Given the description of an element on the screen output the (x, y) to click on. 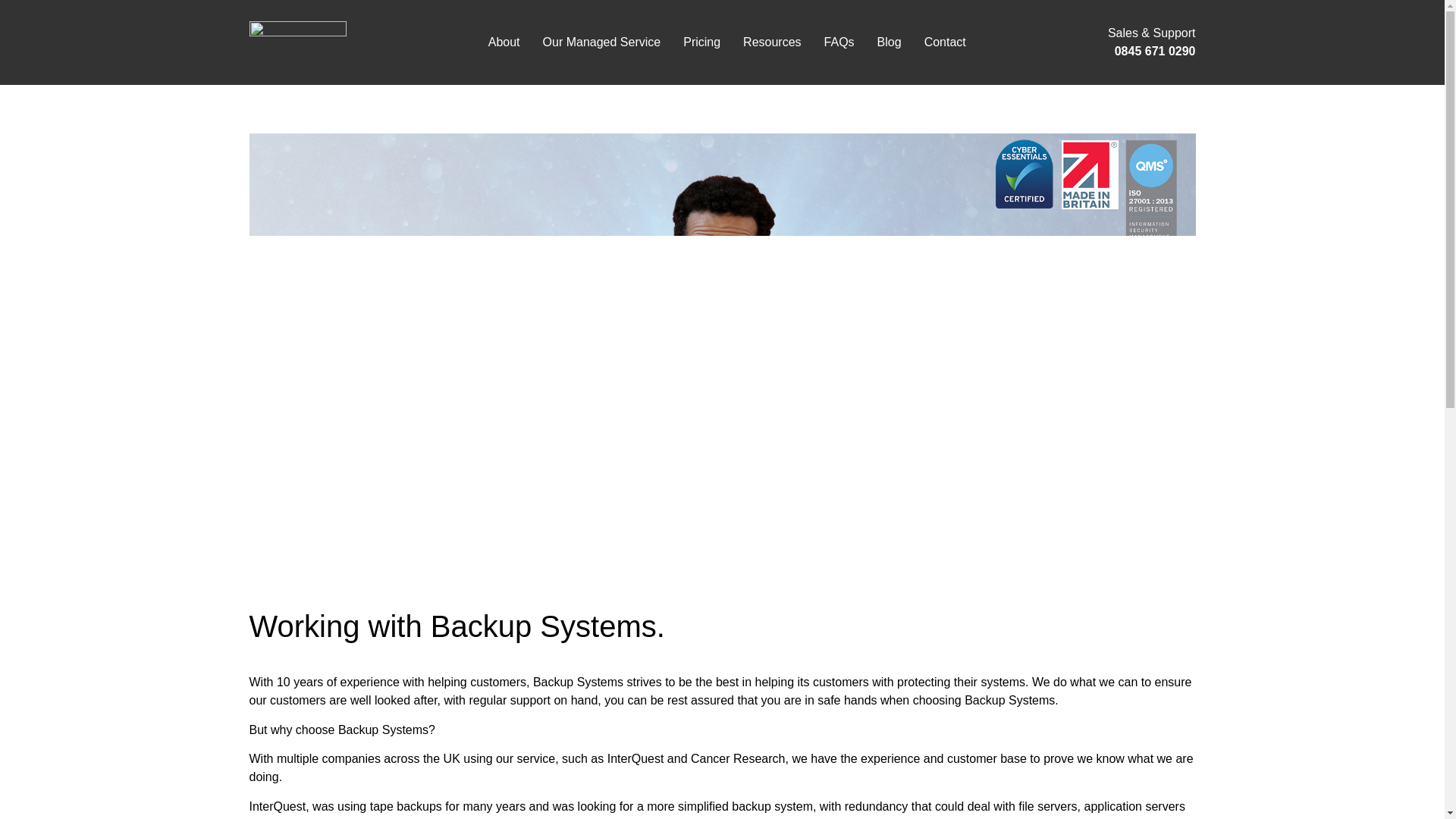
About (503, 42)
FAQs (839, 42)
Pricing (701, 42)
Resources (771, 42)
Blog (889, 42)
Our Managed Service (602, 42)
Contact (945, 42)
